Given the description of an element on the screen output the (x, y) to click on. 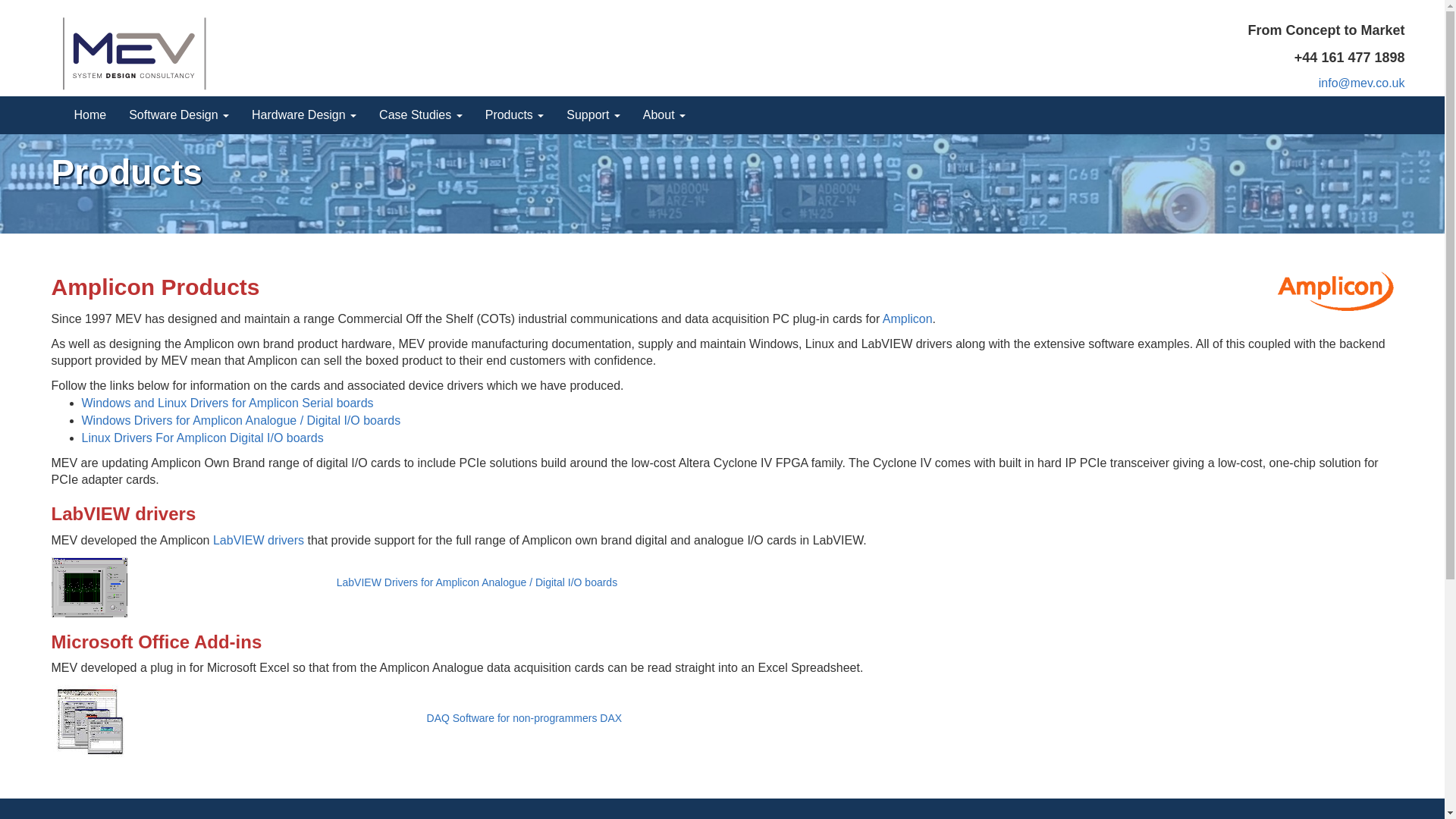
Case Studies (421, 115)
Products (515, 115)
Hardware Design (304, 115)
Home (89, 115)
Software Design (178, 115)
